Given the description of an element on the screen output the (x, y) to click on. 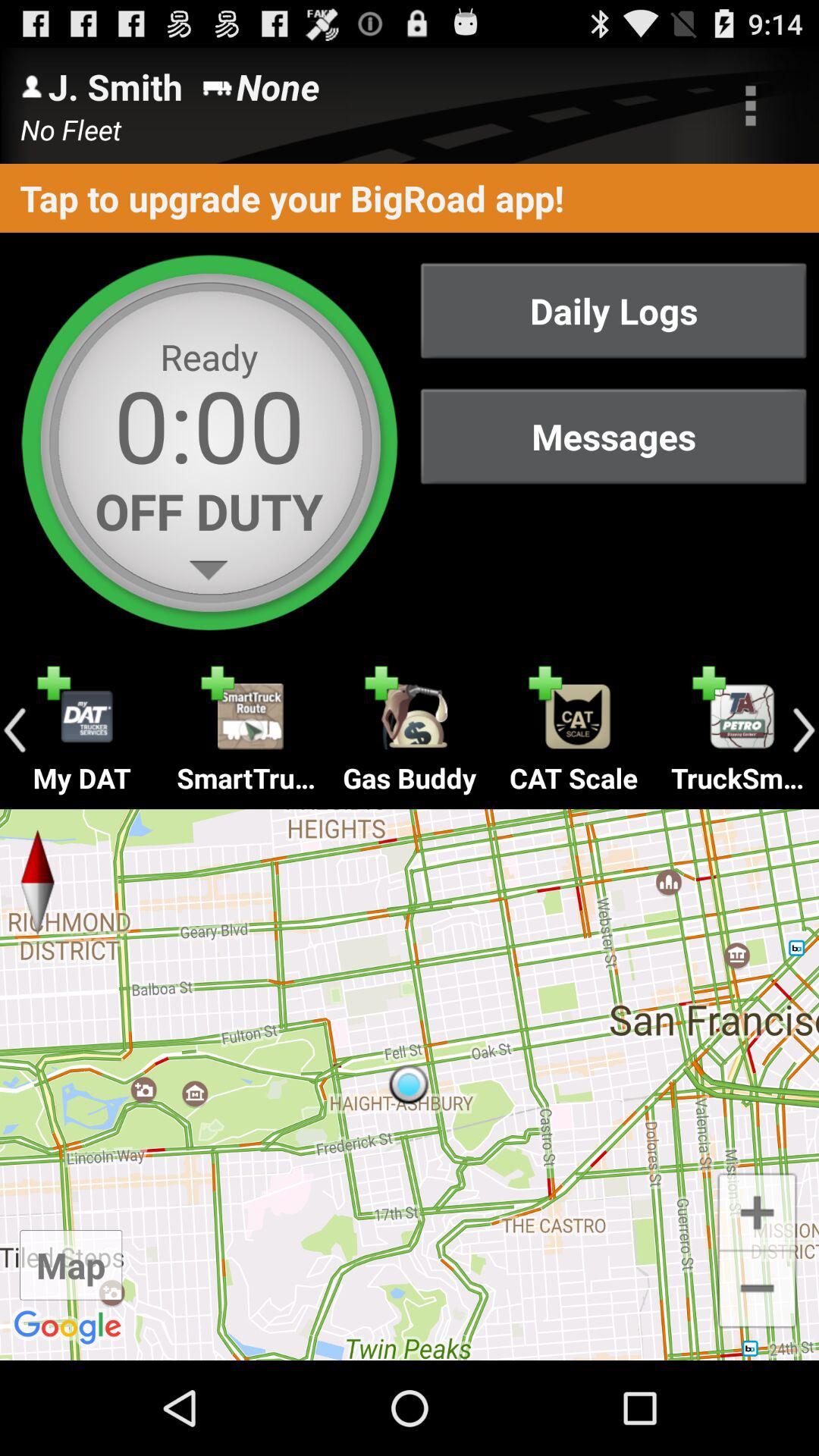
increase zoom (757, 1210)
